Given the description of an element on the screen output the (x, y) to click on. 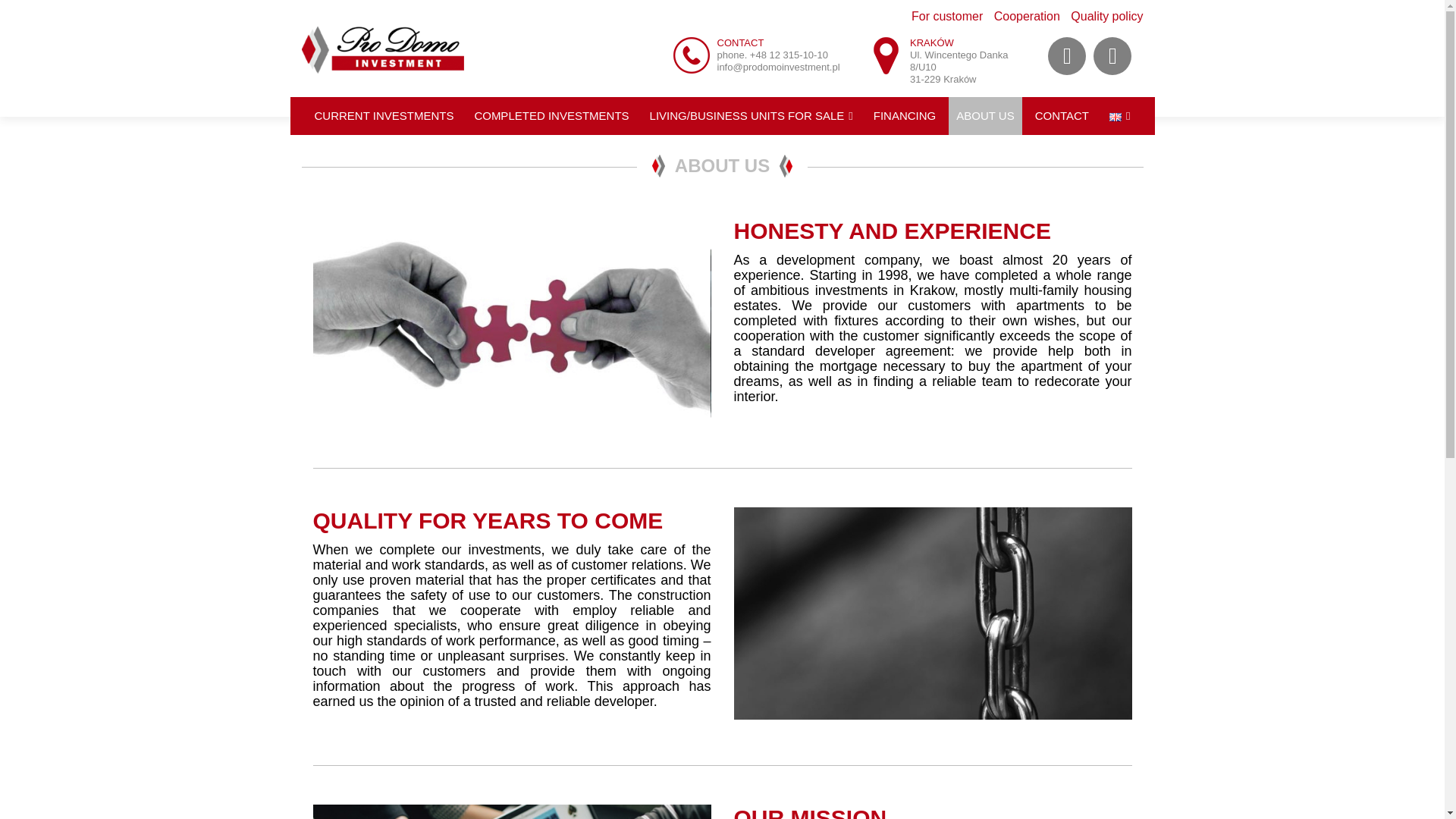
CONTACT (1062, 116)
Quality policy (1102, 15)
English (1115, 117)
Cooperation (1023, 15)
ABOUT US (984, 116)
FINANCING (904, 116)
CURRENT INVESTMENTS (383, 116)
Skip to content (341, 106)
COMPLETED INVESTMENTS (551, 116)
For customer (943, 15)
